Given the description of an element on the screen output the (x, y) to click on. 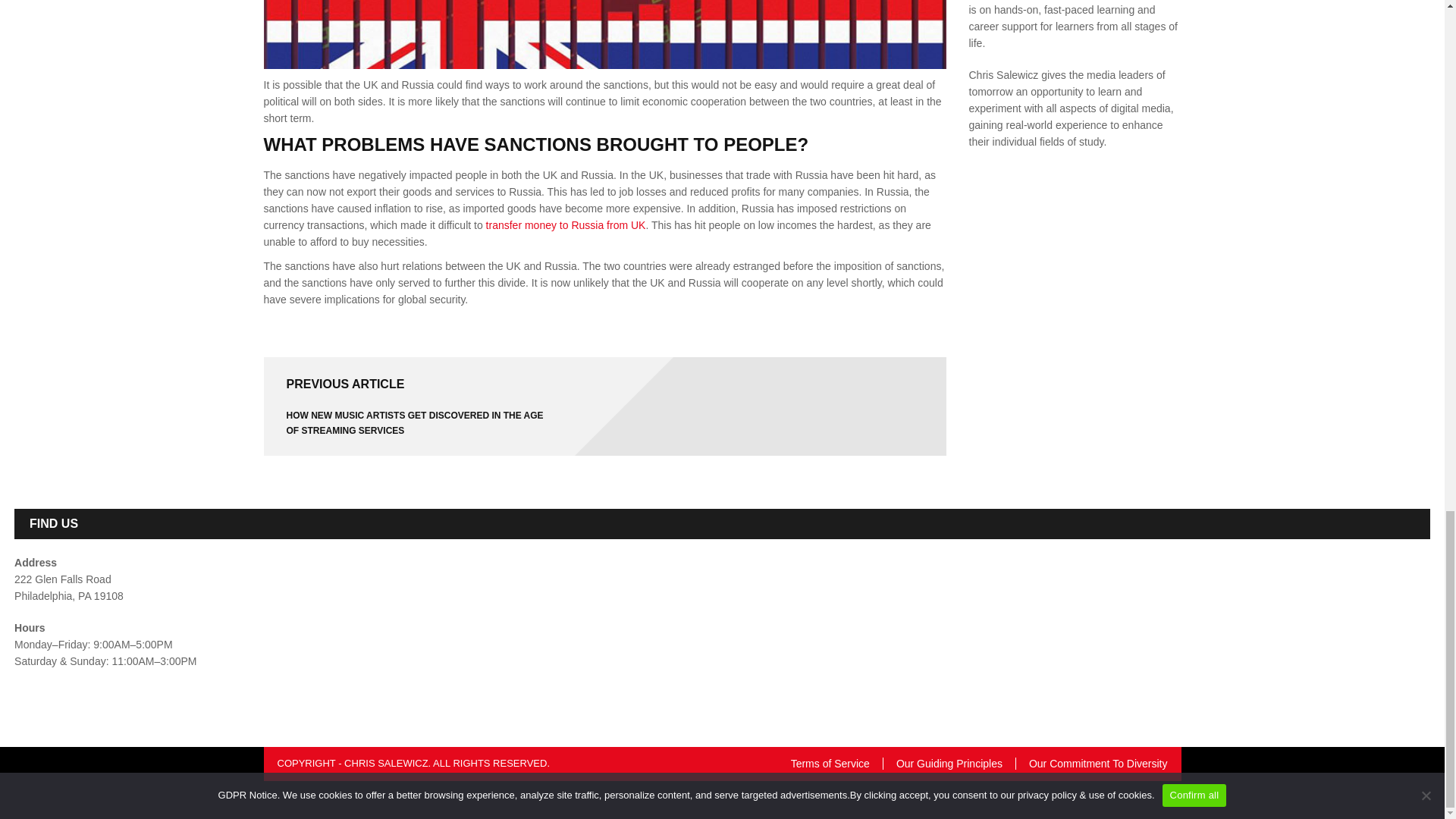
transfer money to Russia from UK (566, 224)
PREVIOUS ARTICLE (345, 382)
transfer money to Russia from the UK (566, 224)
UK economic (604, 34)
